Given the description of an element on the screen output the (x, y) to click on. 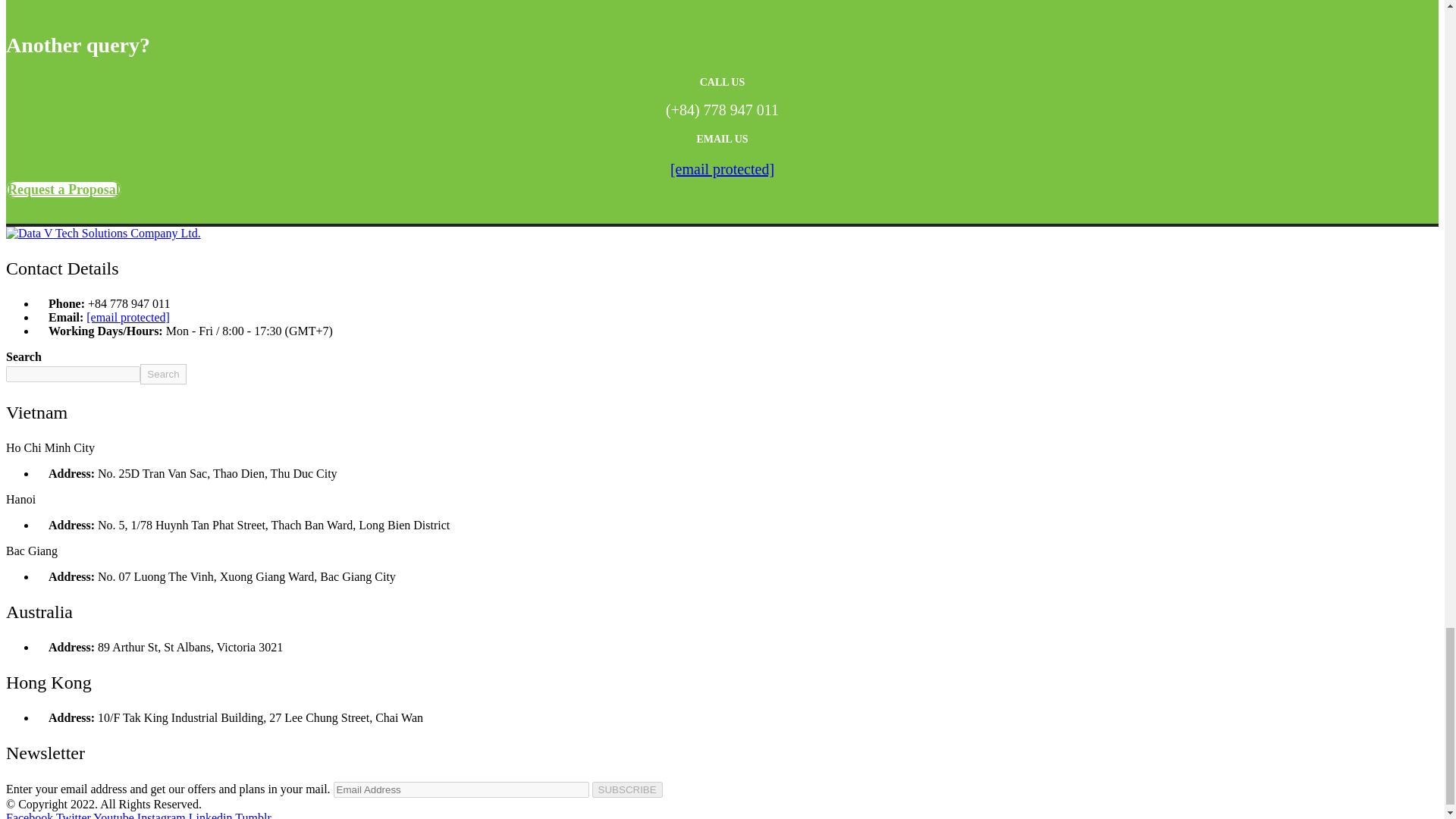
Contact Us (62, 189)
Request a Proposal (62, 189)
SUBSCRIBE (627, 789)
SUBSCRIBE (627, 789)
Search (162, 373)
